Given the description of an element on the screen output the (x, y) to click on. 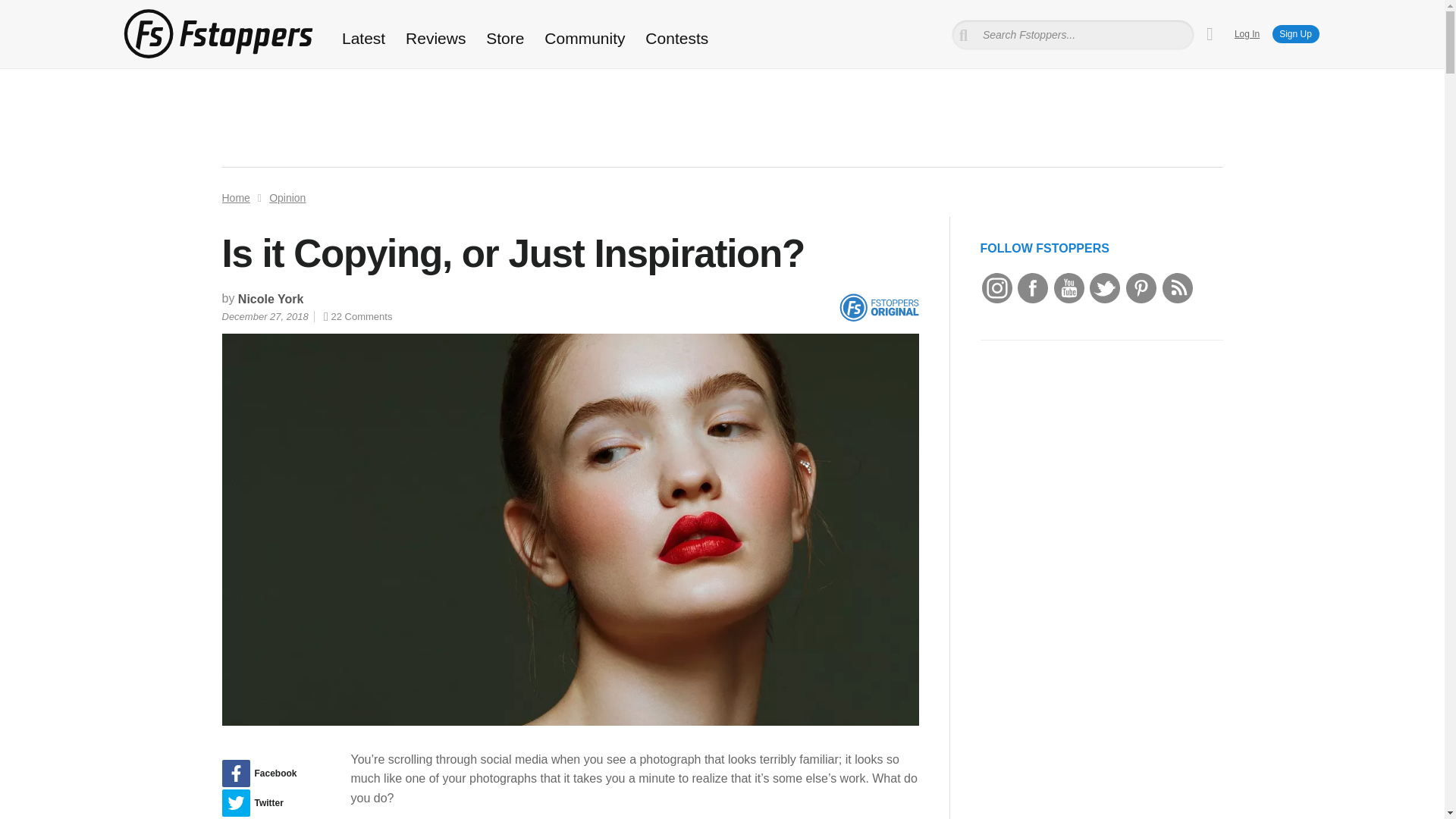
22 Comments (357, 316)
Fstoppers (217, 33)
Fstoppers Original Article (878, 307)
Contests (676, 37)
Log In (1246, 33)
Sign Up (1295, 34)
Share on Facebook (270, 773)
Community (585, 37)
Opinion (287, 197)
Home (234, 197)
